Given the description of an element on the screen output the (x, y) to click on. 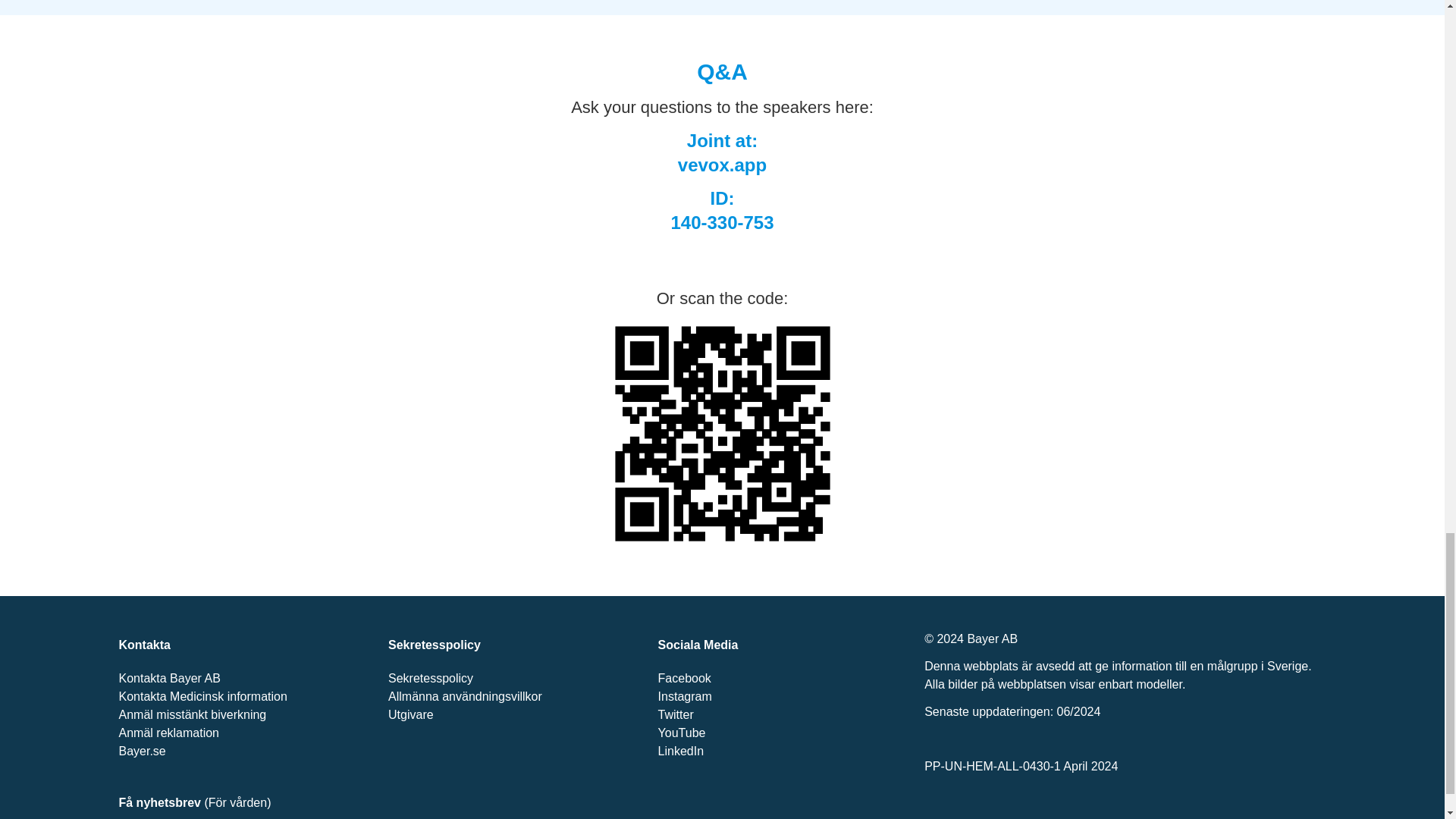
Utgivare (410, 714)
Kontakta Bayer AB (168, 677)
Instagram (684, 696)
Twitter (676, 714)
Sekretesspolicy (430, 677)
Facebook (684, 677)
Kontakta Medicinsk information (201, 696)
LinkedIn (681, 750)
YouTube (682, 732)
Title (721, 433)
